Given the description of an element on the screen output the (x, y) to click on. 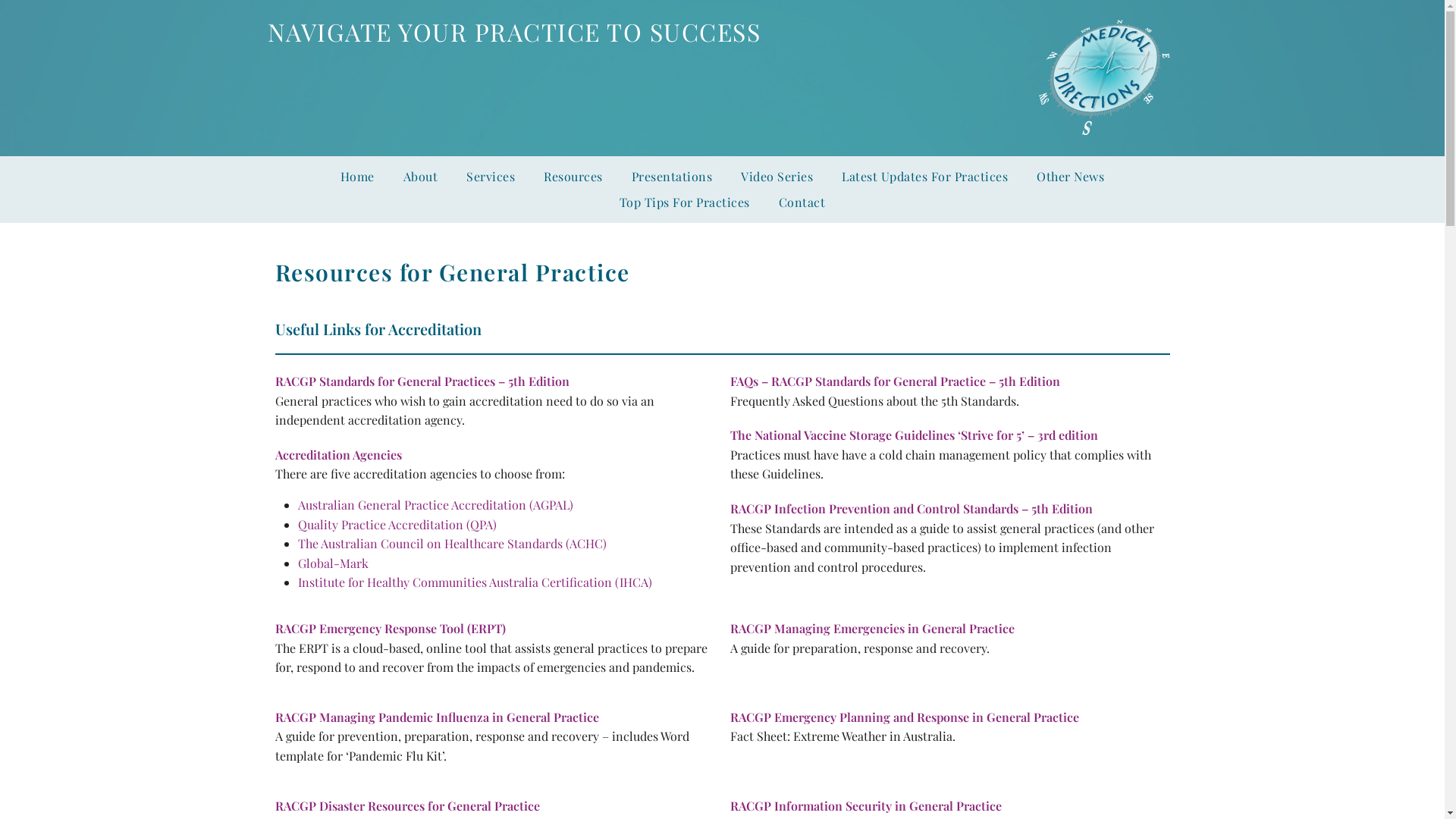
RACGP Emergency Response Tool (ERPT) Element type: text (389, 628)
RACGP Disaster Resources for General Practice Element type: text (406, 805)
Services Element type: text (490, 176)
Other News Element type: text (1070, 176)
Quality Practice Accreditation (QPA) Element type: text (396, 524)
Top Tips For Practices Element type: text (684, 202)
Resources Element type: text (573, 176)
Latest Updates For Practices Element type: text (924, 176)
Australian General Practice Accreditation (AGPAL) Element type: text (434, 504)
Presentations Element type: text (672, 176)
Accreditation Agencies Element type: text (337, 454)
Video Series Element type: text (776, 176)
The Australian Council on Healthcare Standards (ACHC) Element type: text (451, 543)
RACGP Managing Pandemic Influenza in General Practice Element type: text (436, 716)
RACGP Managing Emergencies in General Practice Element type: text (871, 628)
RACGP Information Security in General Practice Element type: text (865, 805)
RACGP Emergency Planning and Response in General Practice Element type: text (903, 716)
About Element type: text (420, 176)
Home Element type: text (357, 176)
Global-Mark Element type: text (332, 563)
Contact Element type: text (802, 202)
